Given the description of an element on the screen output the (x, y) to click on. 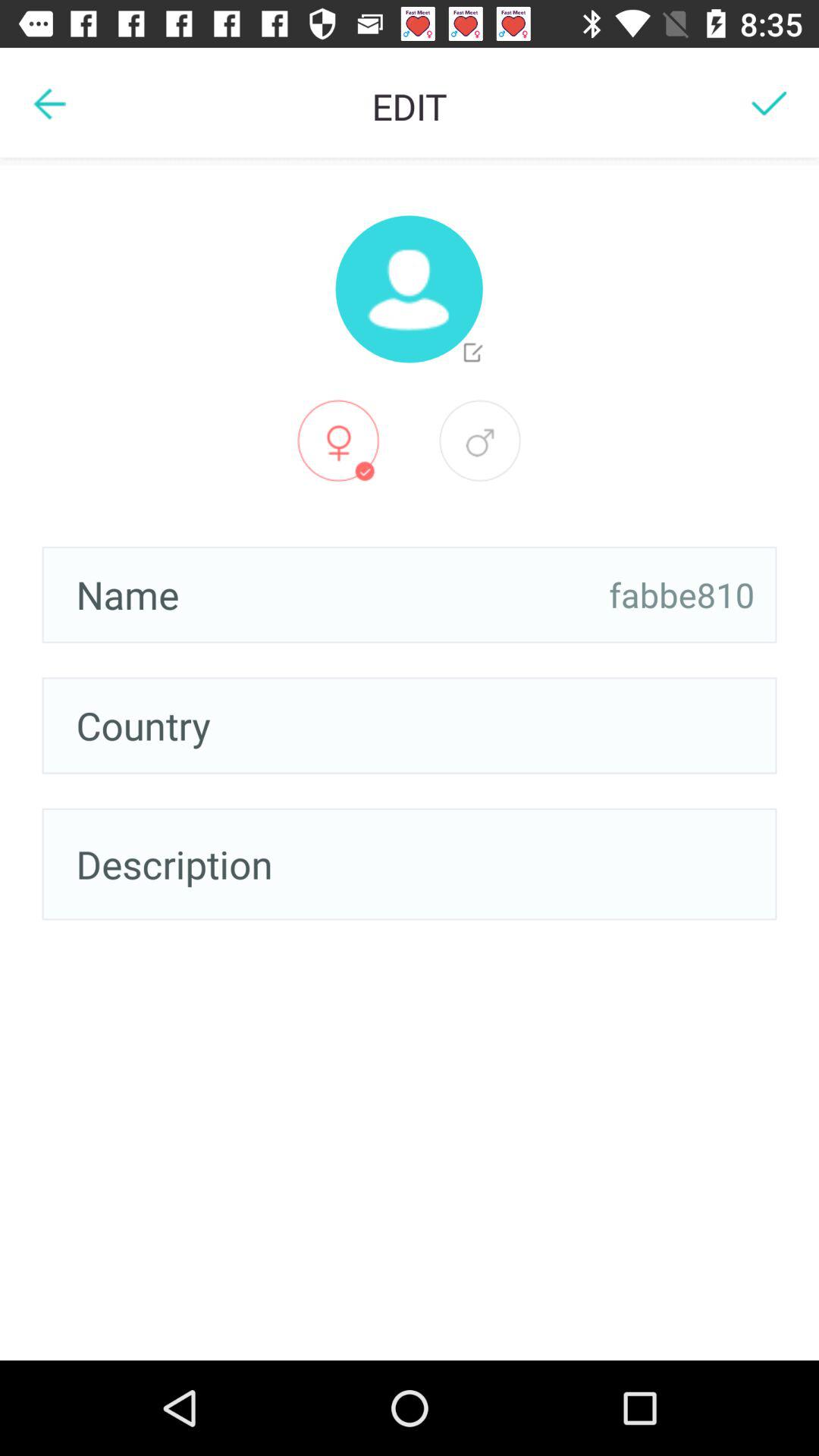
scroll until fabbe810 (681, 594)
